Given the description of an element on the screen output the (x, y) to click on. 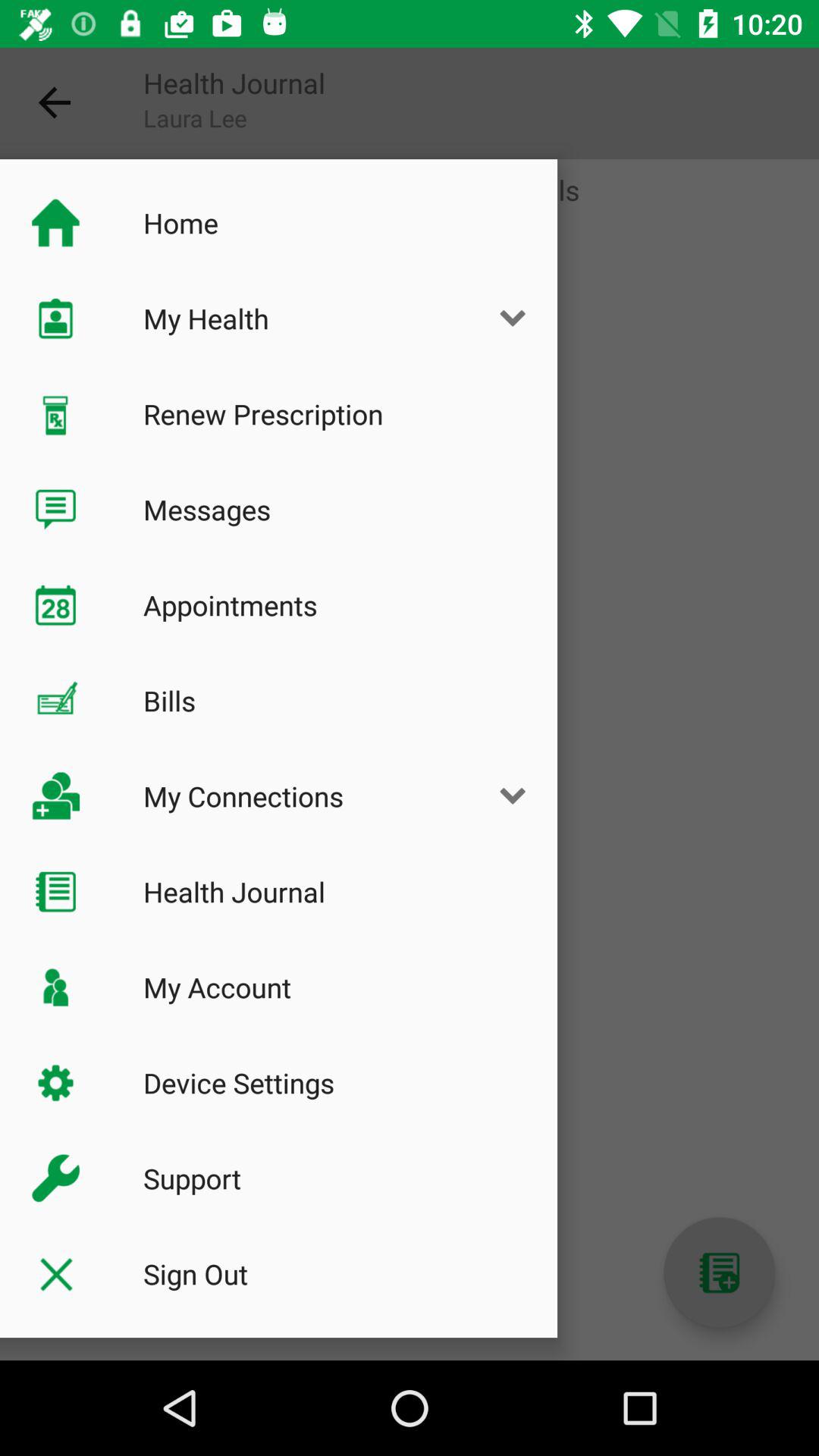
toggle autoplay option (719, 1272)
